Given the description of an element on the screen output the (x, y) to click on. 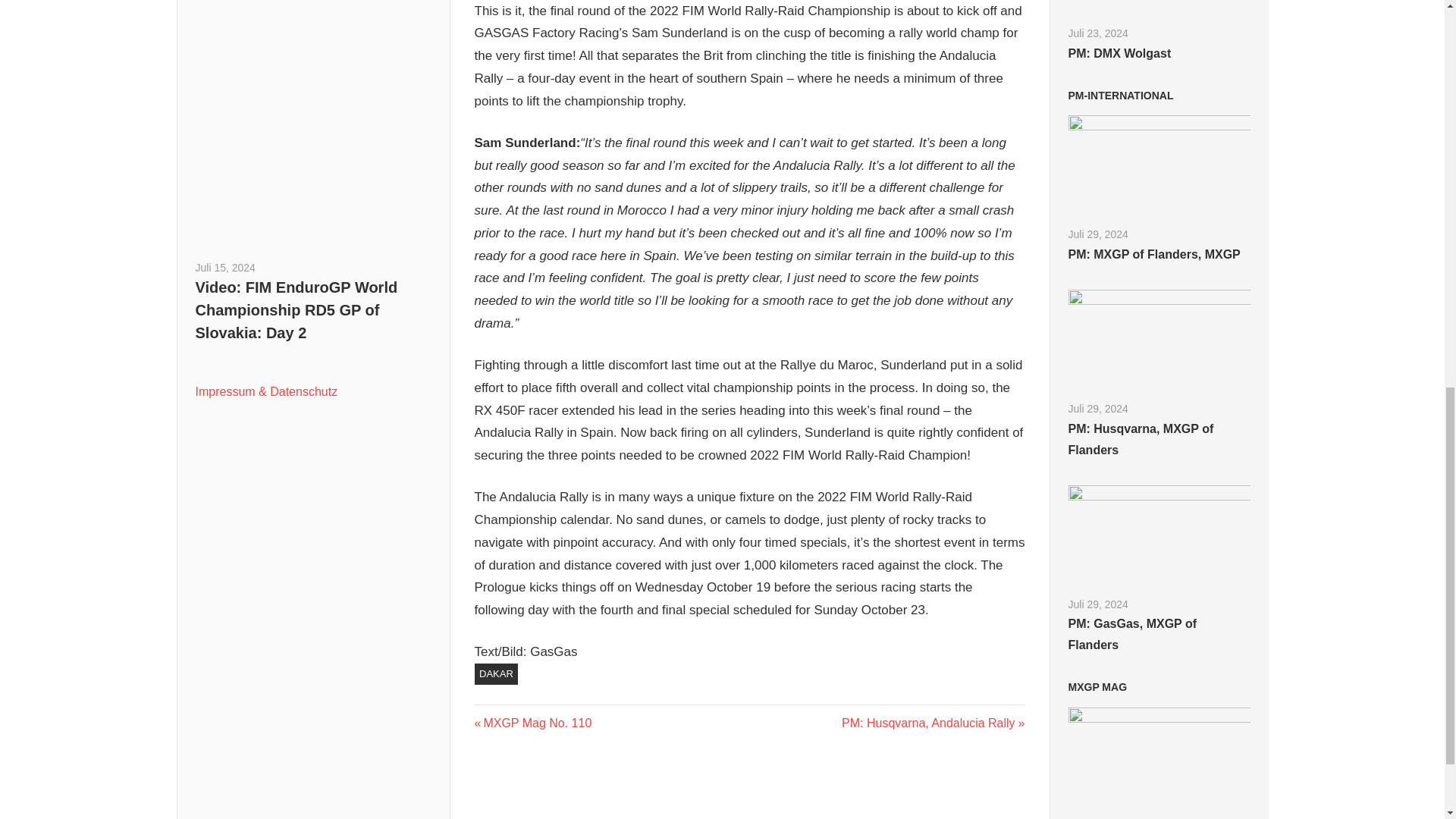
DAKAR (496, 673)
Juli 23, 2024 (1096, 33)
7:46 am (533, 722)
5:31 pm (225, 267)
PM-INTERNATIONAL (1096, 408)
Juli 29, 2024 (1120, 95)
PM: MXGP of Flanders, MXGP (1096, 234)
8:07 pm (1153, 254)
PM: DMX Wolgast (1096, 33)
5:35 pm (1118, 52)
Juli 15, 2024 (1096, 234)
